Given the description of an element on the screen output the (x, y) to click on. 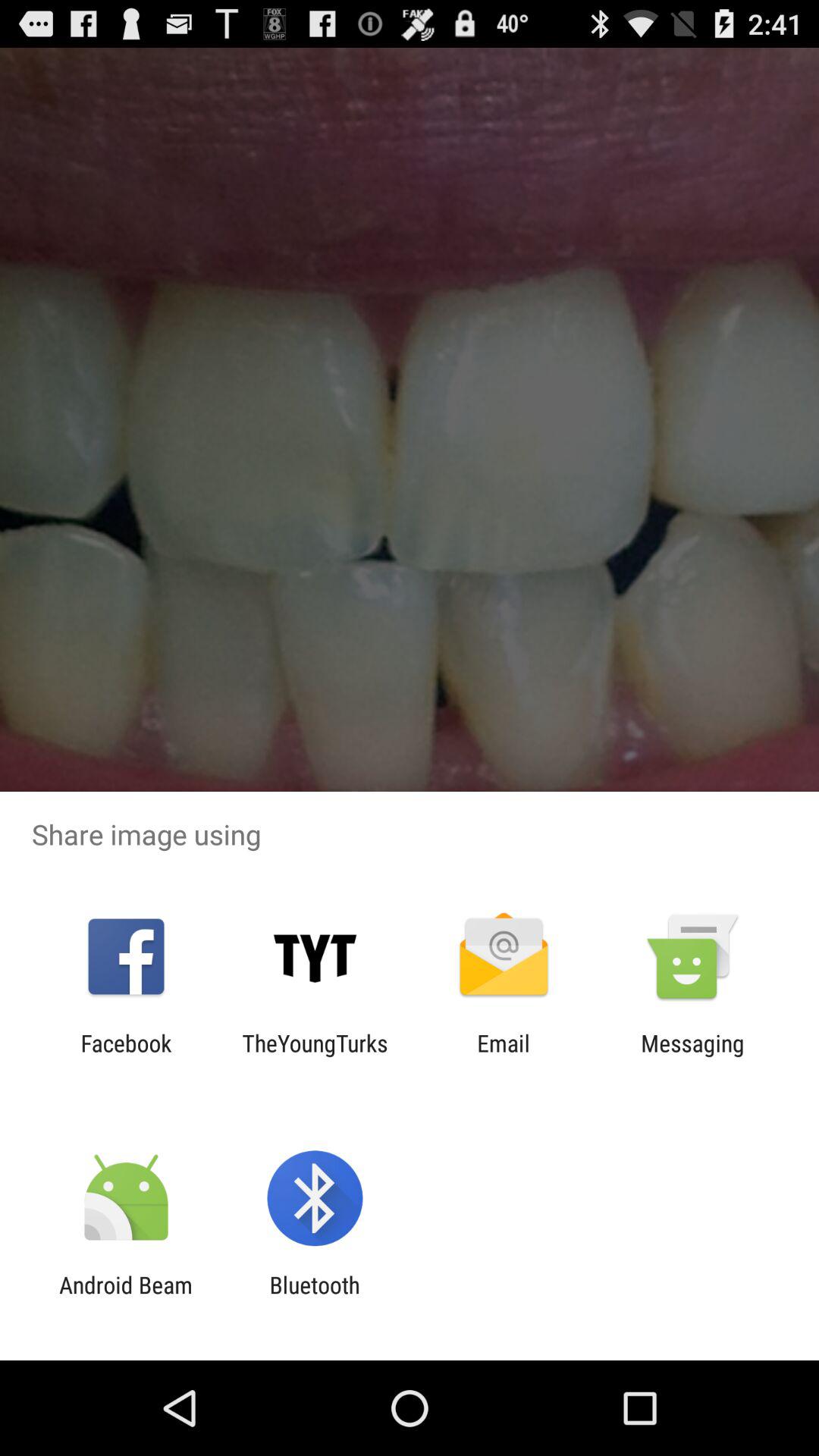
open app next to email item (692, 1056)
